Given the description of an element on the screen output the (x, y) to click on. 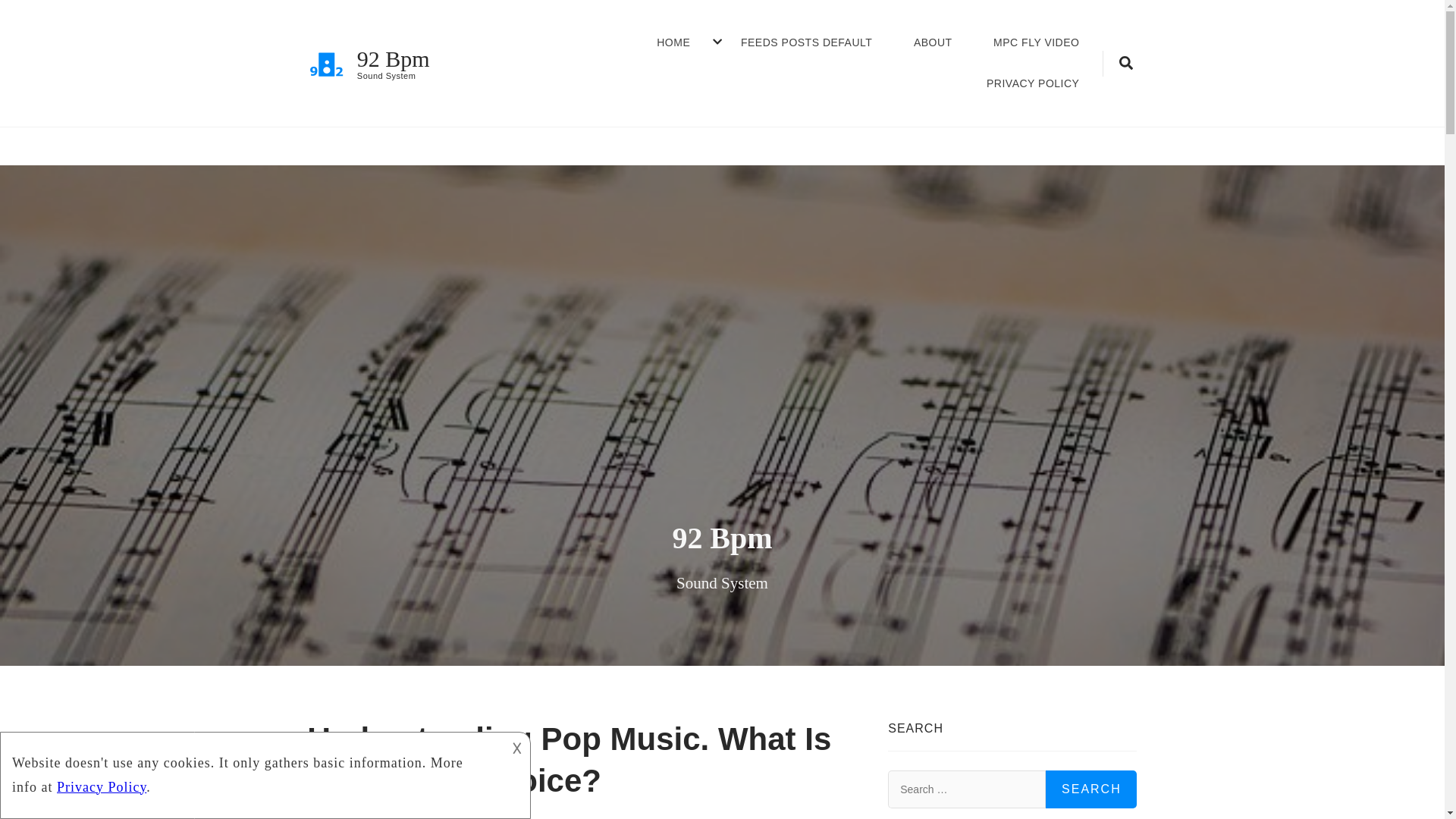
Search (1091, 789)
Jackie Jodene (355, 816)
Search (1091, 789)
PRIVACY POLICY (1032, 83)
description (252, 770)
MPC FLY VIDEO (1035, 42)
HOME (673, 42)
Search (1091, 789)
92 Bpm (392, 58)
ABOUT (933, 42)
December 7, 2021 (474, 816)
FEEDS POSTS DEFAULT (806, 42)
Search (1063, 134)
